Given the description of an element on the screen output the (x, y) to click on. 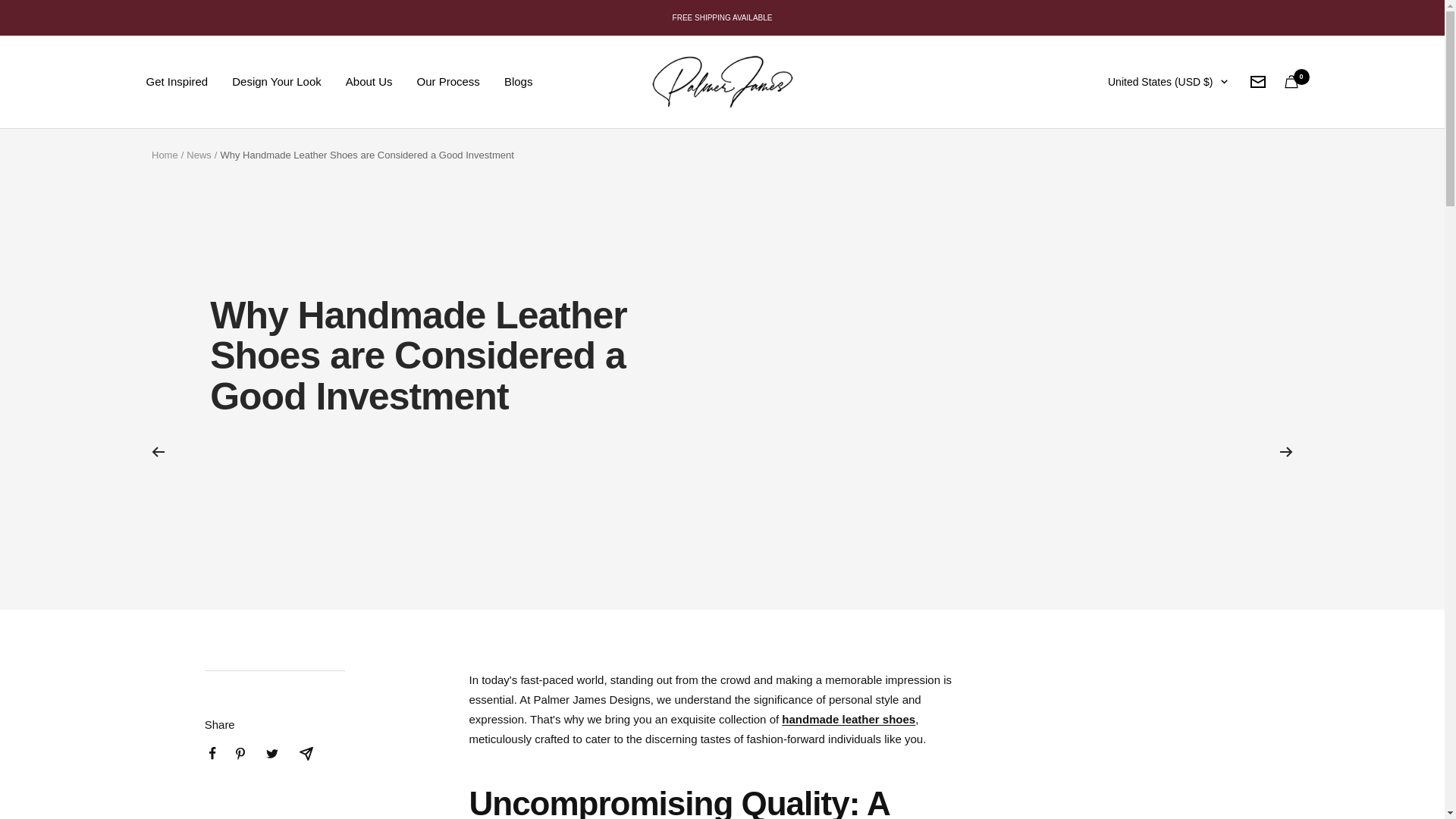
DZ (1076, 209)
AT (1076, 409)
Palmer James Designs (721, 81)
BH (1076, 484)
Get Inspired (176, 81)
AI (1076, 284)
BS (1076, 459)
BO (1076, 709)
AG (1076, 309)
AF (1076, 134)
